Given the description of an element on the screen output the (x, y) to click on. 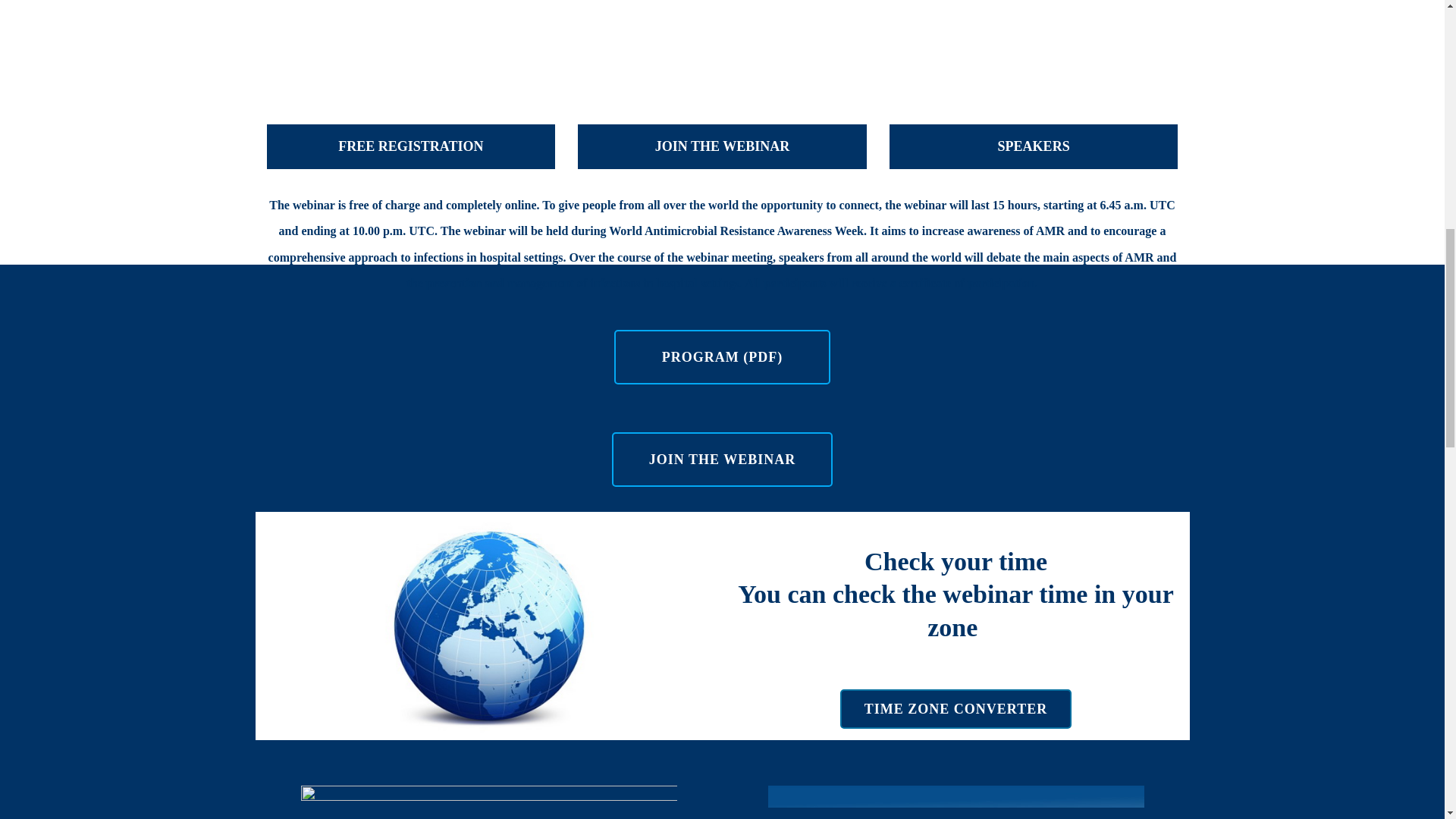
TIME ZONE CONVERTER (955, 708)
FREE REGISTRATION (411, 146)
SPEAKERS (1034, 146)
JOIN THE WEBINAR (721, 459)
JOIN THE WEBINAR (722, 146)
